Given the description of an element on the screen output the (x, y) to click on. 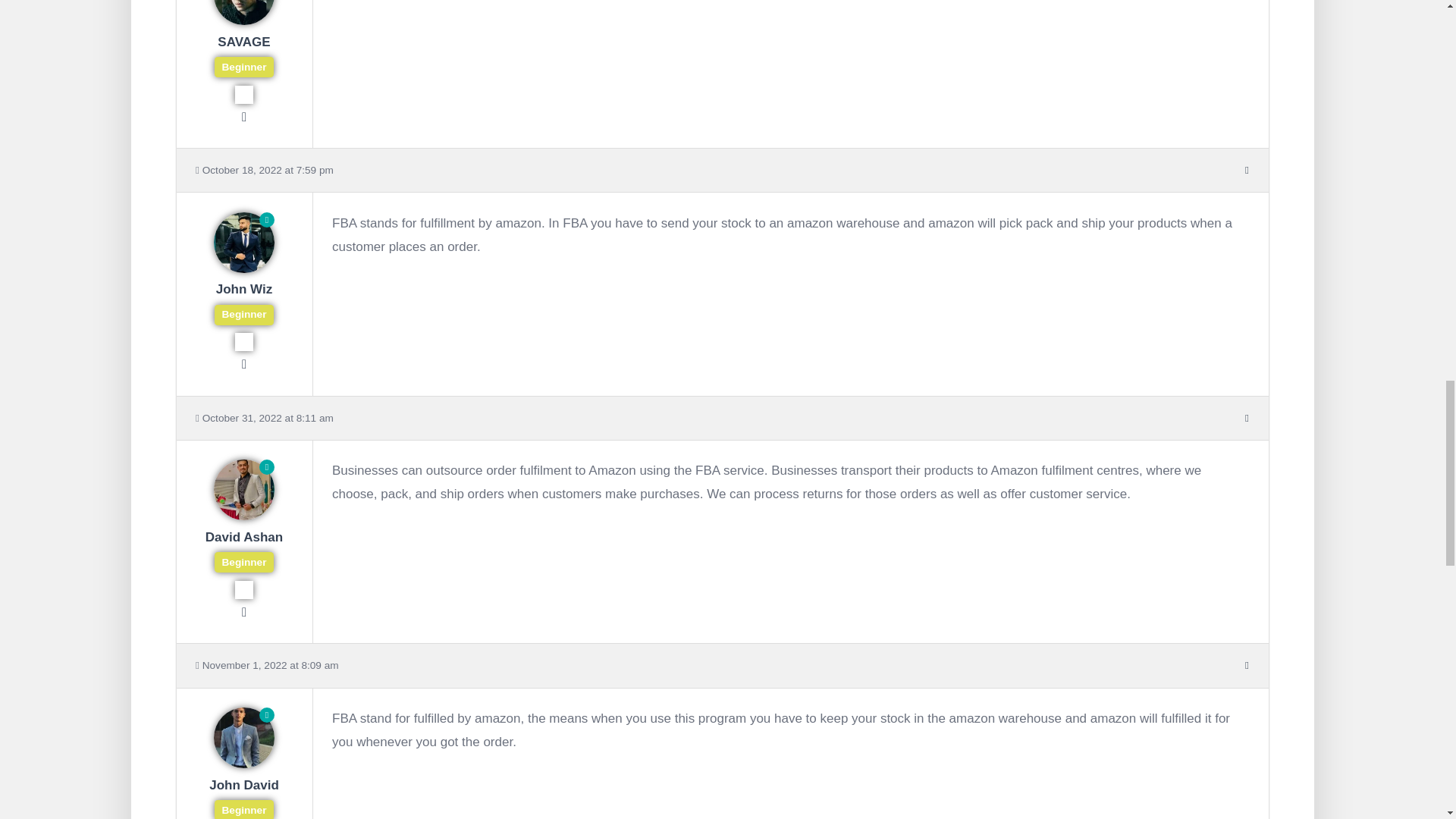
John Wiz (243, 300)
David Ashan (243, 547)
John David (243, 795)
SAVAGE (243, 52)
